Given the description of an element on the screen output the (x, y) to click on. 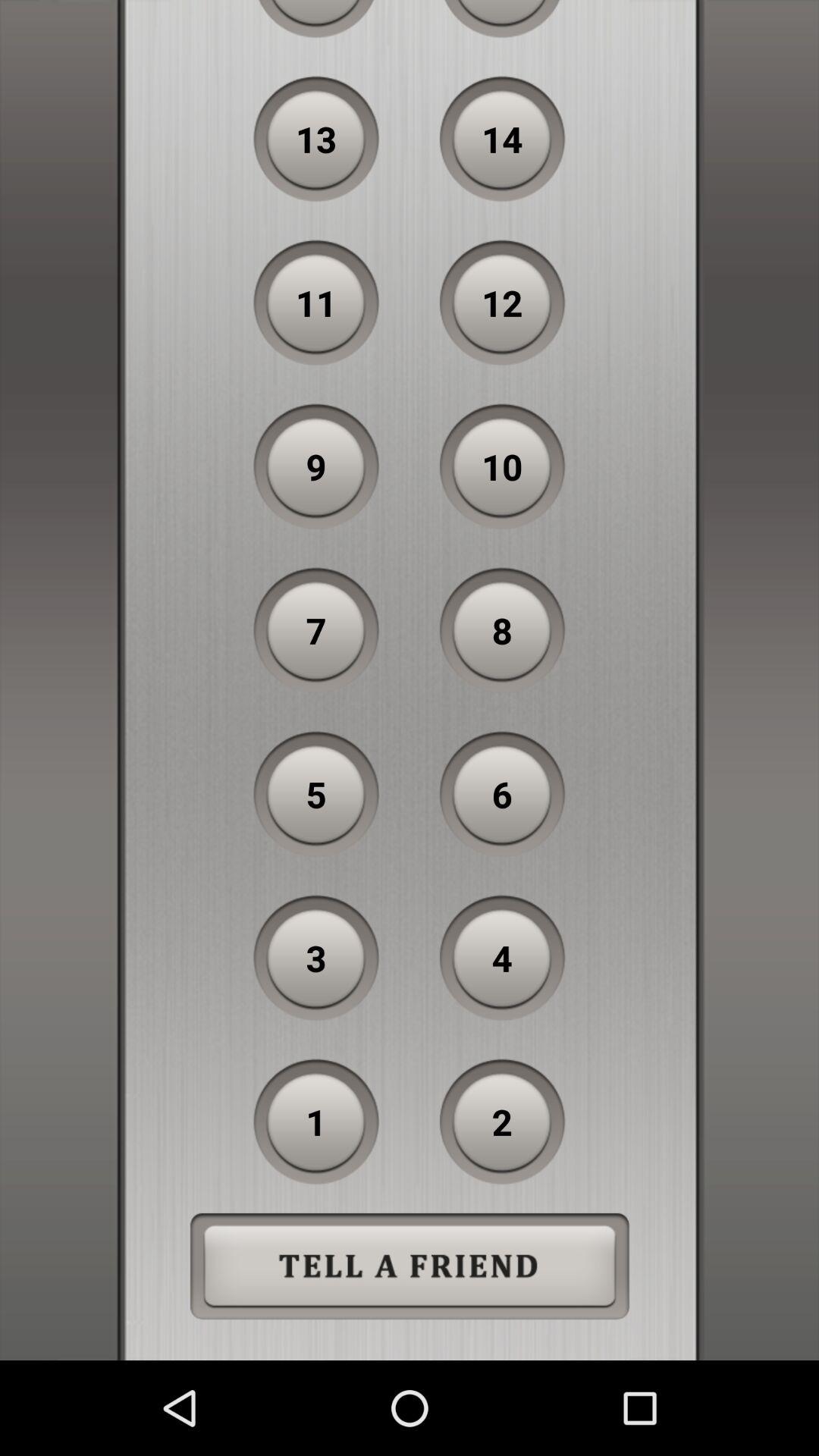
select the icon above 14 (502, 19)
